Given the description of an element on the screen output the (x, y) to click on. 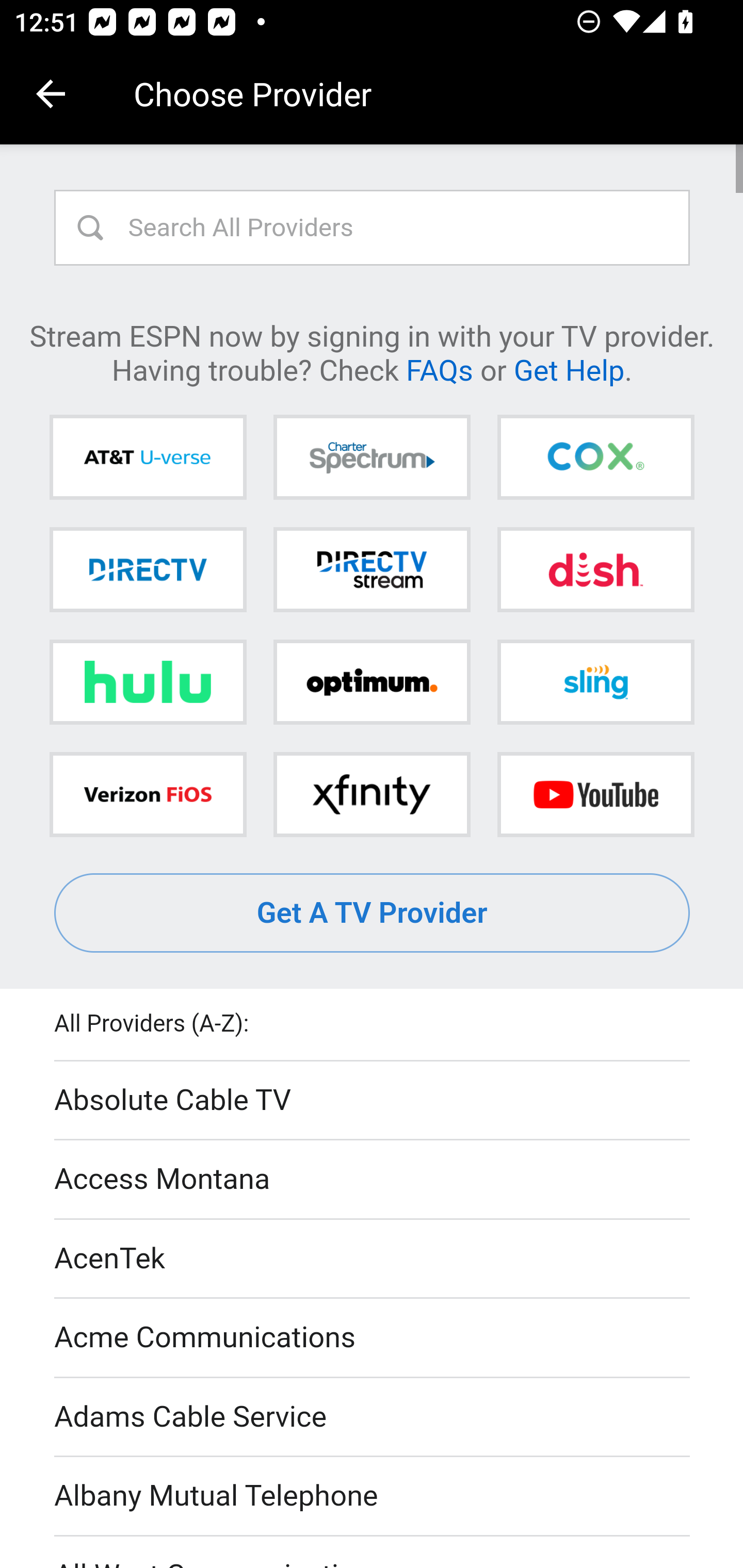
Navigate up (50, 93)
FAQs (438, 369)
Get Help (569, 369)
AT&T U-verse (147, 457)
Charter Spectrum (371, 457)
Cox (595, 457)
DIRECTV (147, 568)
DIRECTV STREAM (371, 568)
DISH (595, 568)
Hulu (147, 681)
Optimum (371, 681)
Sling TV (595, 681)
Verizon FiOS (147, 793)
Xfinity (371, 793)
YouTube TV (595, 793)
Get A TV Provider (372, 912)
Absolute Cable TV (372, 1100)
Access Montana (372, 1178)
AcenTek (372, 1258)
Acme Communications (372, 1338)
Adams Cable Service (372, 1417)
Albany Mutual Telephone (372, 1497)
